Given the description of an element on the screen output the (x, y) to click on. 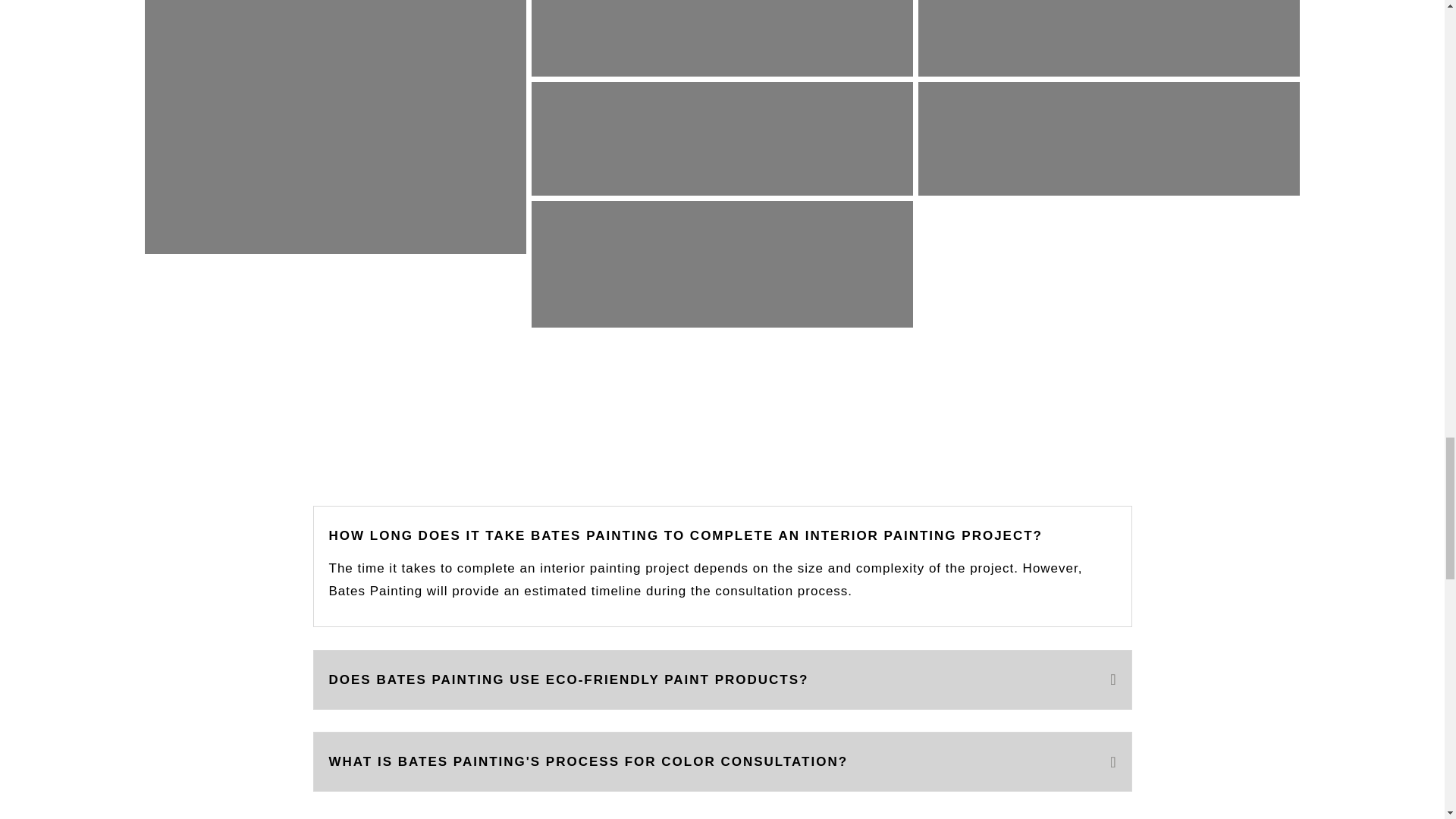
Interior Painting Services in Kansas City, MO 9 (644, 263)
Interior Painting Services in Kansas City, MO 5 (644, 38)
Interior Painting Services in Kansas City, MO 4 (257, 126)
Interior Painting Services in Kansas City, MO 8 (1031, 138)
Interior Painting Services in Kansas City, MO 7 (644, 138)
Interior Painting Services in Kansas City, MO 6 (1031, 38)
